Given the description of an element on the screen output the (x, y) to click on. 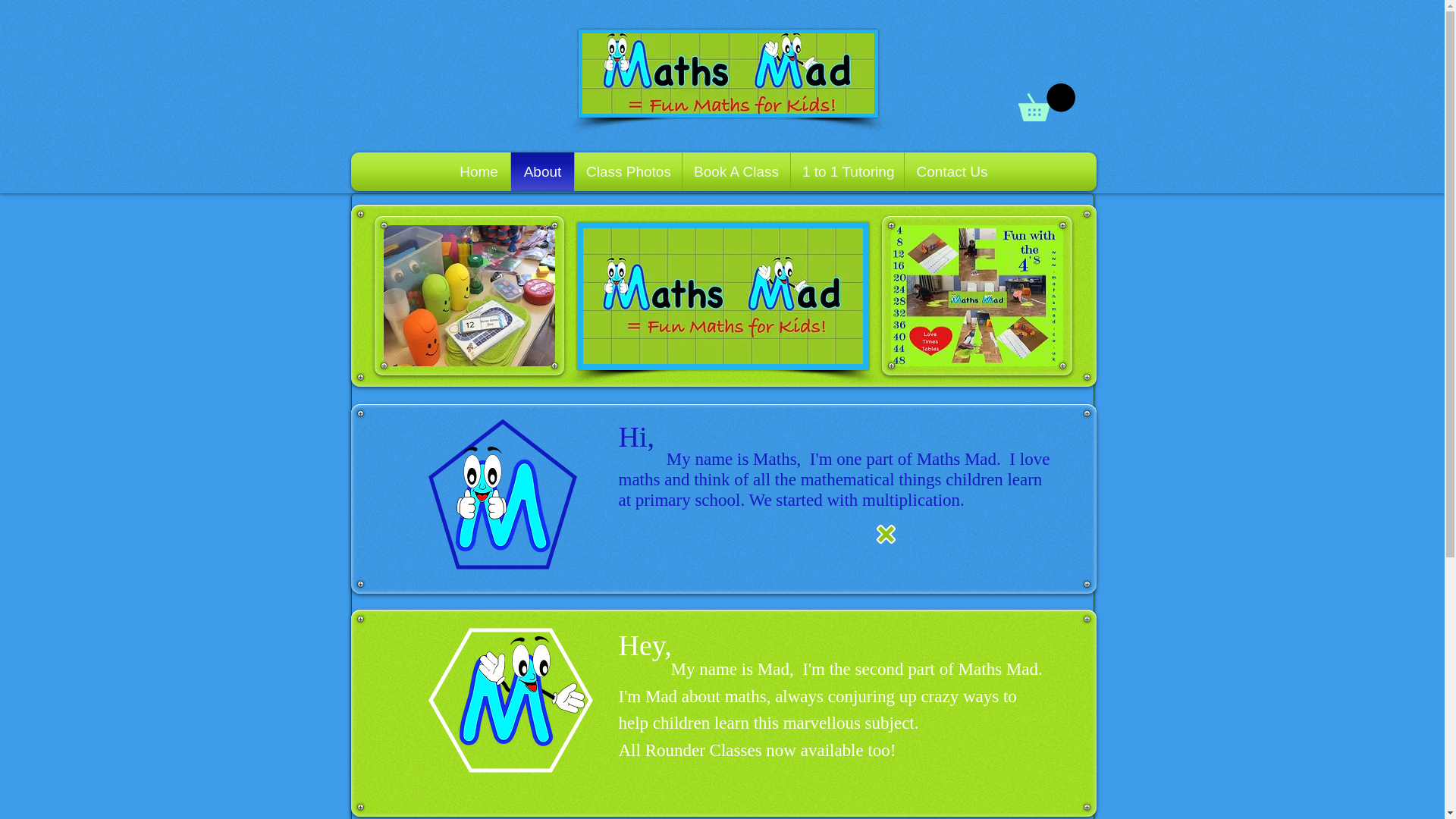
Love Maths (502, 499)
Twitter Tweet (428, 72)
Fun Maths (522, 691)
Book A Class (735, 171)
1 to 1 Tutoring (846, 171)
Twitter Follow (429, 96)
Contact Us (951, 171)
Class Photos (628, 171)
Home (478, 171)
About (542, 171)
